Given the description of an element on the screen output the (x, y) to click on. 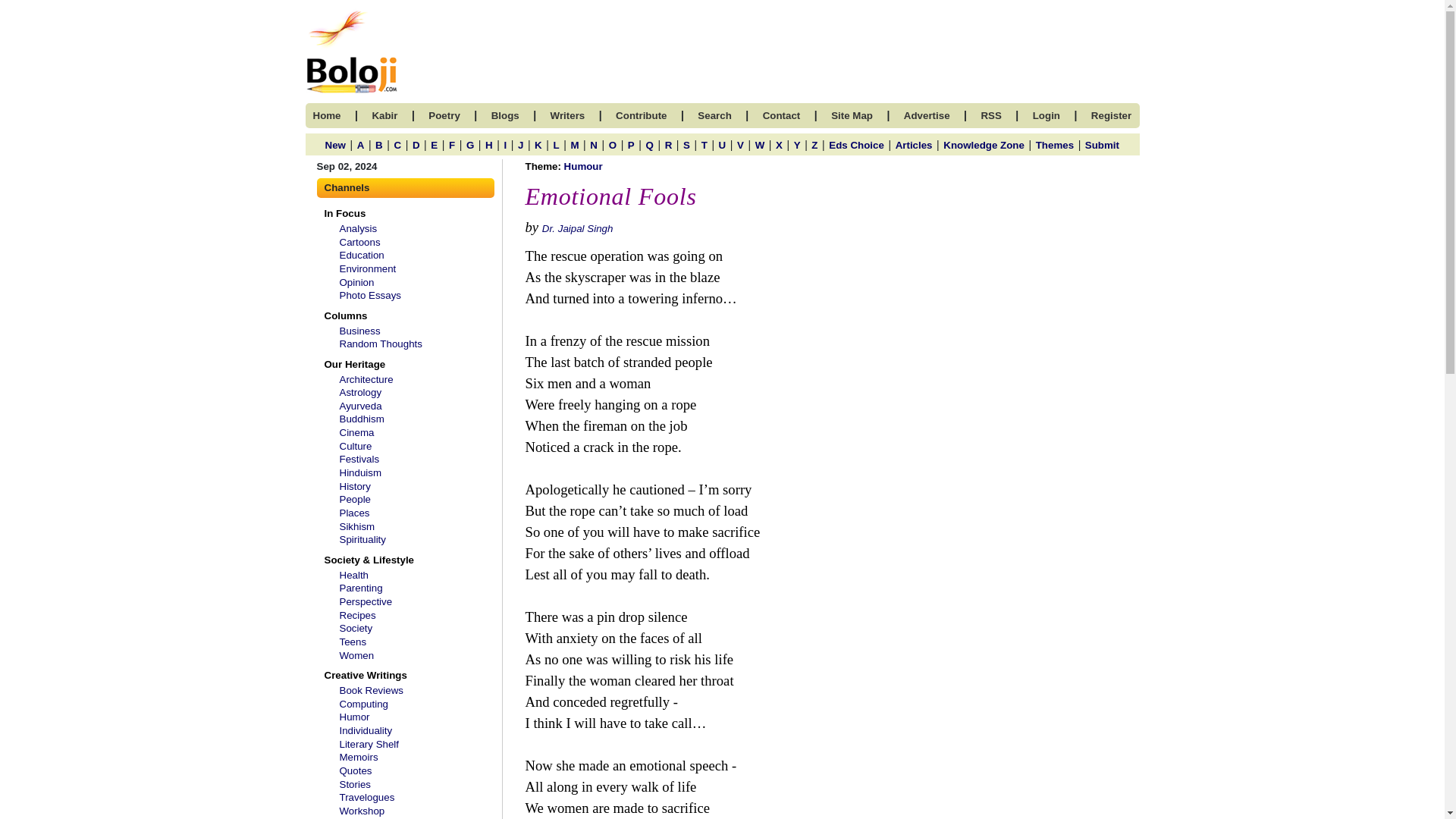
Blogs (505, 115)
Poetry (444, 115)
RSS (990, 115)
Register (1110, 115)
Home (326, 115)
Login (1045, 115)
Contribute (640, 115)
Site Map (851, 115)
Contact (781, 115)
Kabir (384, 115)
